Given the description of an element on the screen output the (x, y) to click on. 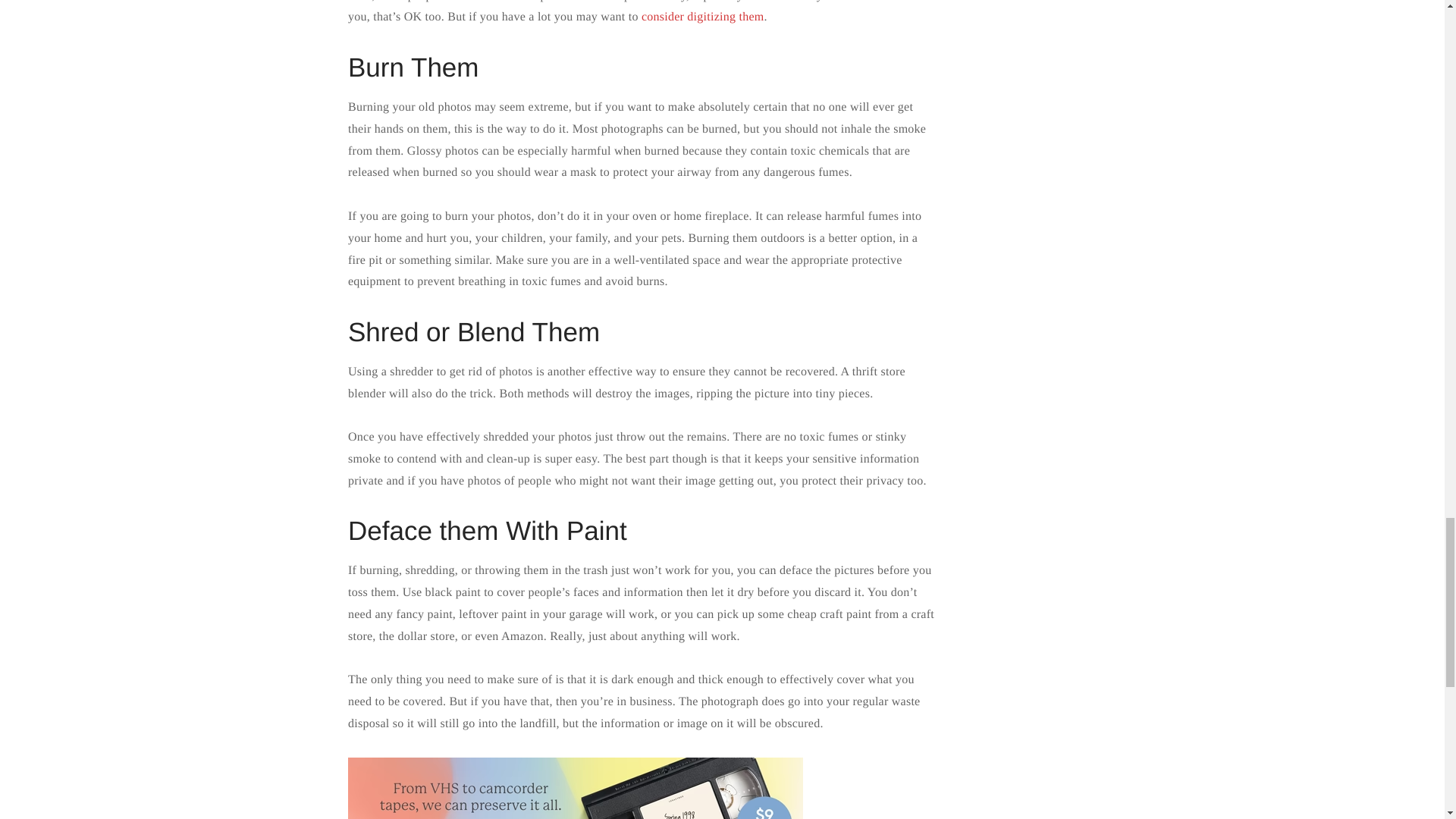
consider digitizing them (703, 16)
